Given the description of an element on the screen output the (x, y) to click on. 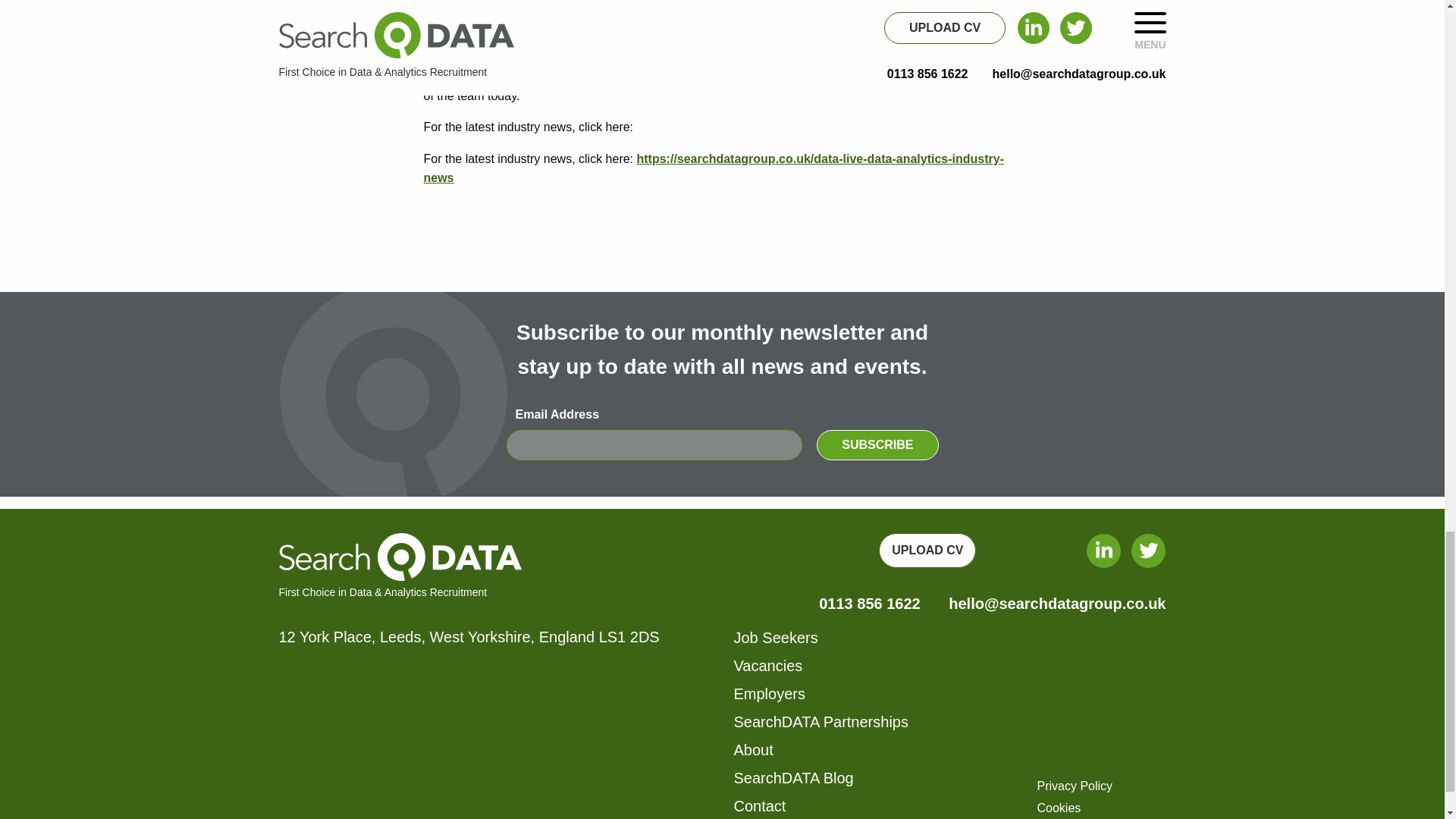
Subscribe (876, 444)
SearchDATA Partnerships (820, 721)
0113 856 1622 (869, 603)
SearchDATA Blog (793, 777)
UPLOAD CV (927, 550)
Vacancies (768, 665)
Subscribe (876, 444)
Privacy Policy (1074, 785)
Job Seekers (775, 637)
Employers (769, 693)
Contact (759, 805)
About (753, 750)
Cookies (1058, 807)
